Given the description of an element on the screen output the (x, y) to click on. 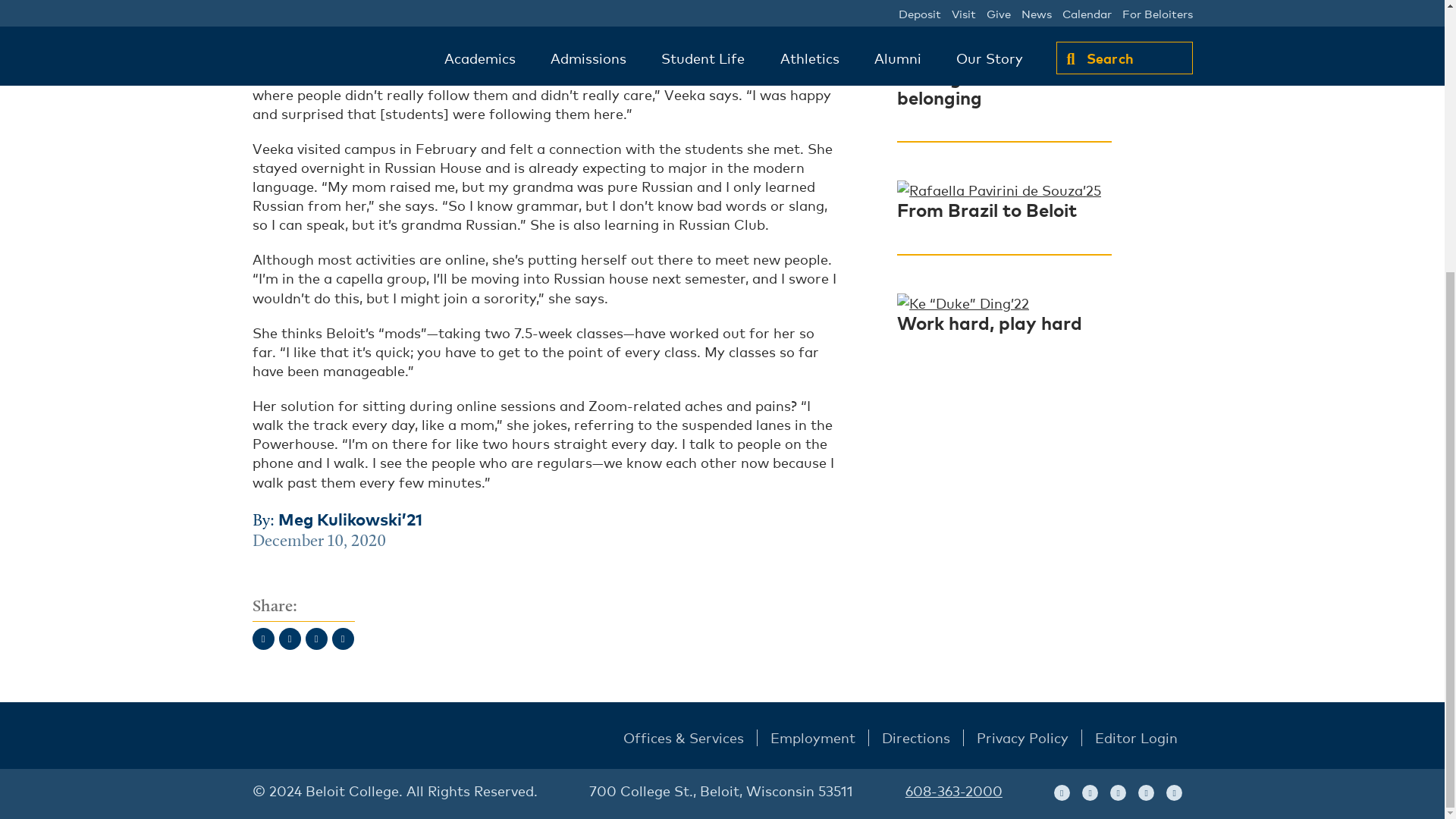
Finding a sense of belonging (974, 85)
Work hard, play hard (988, 321)
From Brazil to Beloit (986, 208)
Beloit College (330, 738)
